Given the description of an element on the screen output the (x, y) to click on. 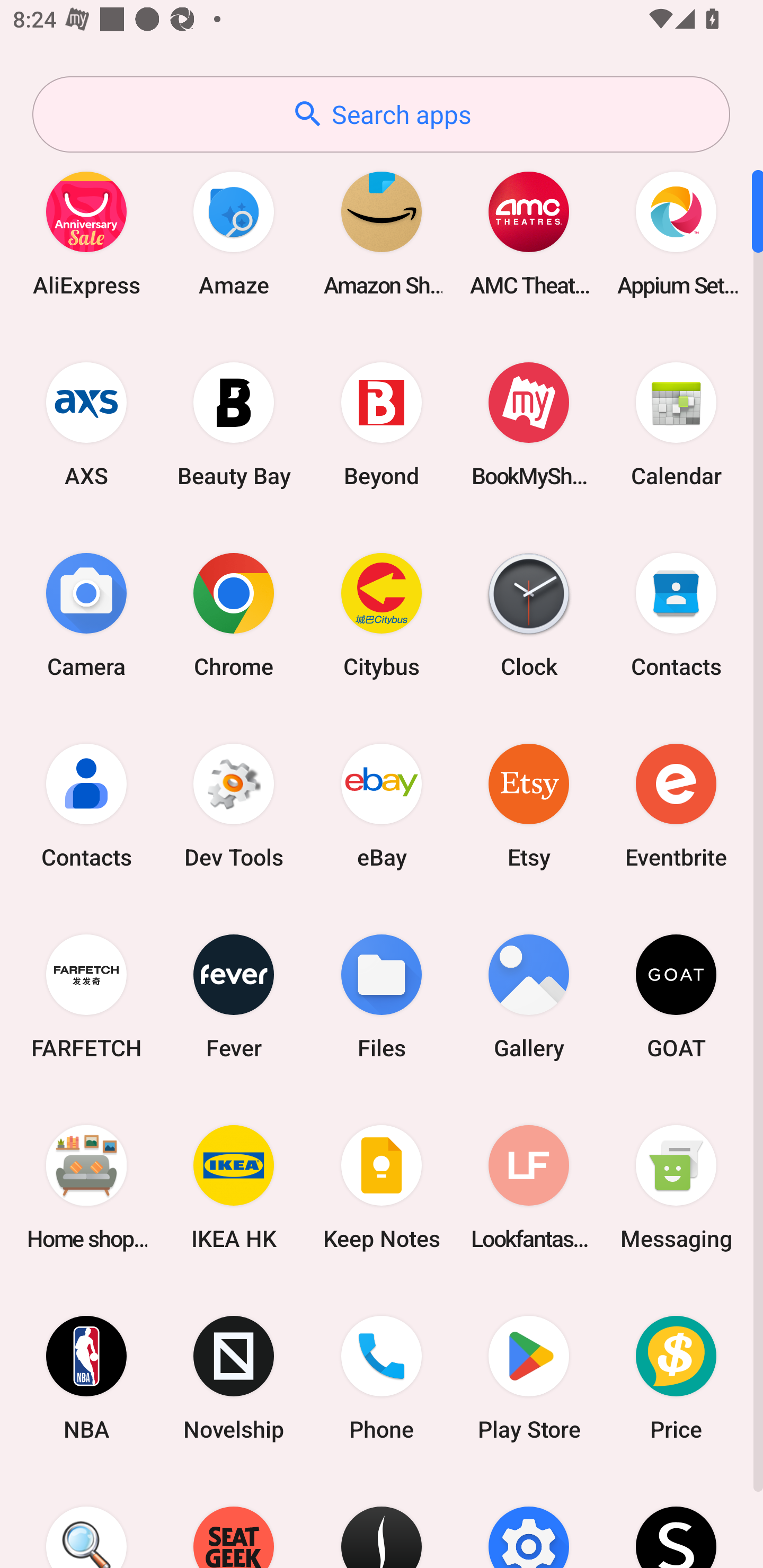
  Search apps (381, 114)
AliExpress (86, 233)
Amaze (233, 233)
Amazon Shopping (381, 233)
AMC Theatres (528, 233)
Appium Settings (676, 233)
AXS (86, 424)
Beauty Bay (233, 424)
Beyond (381, 424)
BookMyShow (528, 424)
Calendar (676, 424)
Camera (86, 614)
Chrome (233, 614)
Citybus (381, 614)
Clock (528, 614)
Contacts (676, 614)
Contacts (86, 805)
Dev Tools (233, 805)
eBay (381, 805)
Etsy (528, 805)
Eventbrite (676, 805)
FARFETCH (86, 996)
Fever (233, 996)
Files (381, 996)
Gallery (528, 996)
GOAT (676, 996)
Home shopping (86, 1186)
IKEA HK (233, 1186)
Keep Notes (381, 1186)
Lookfantastic (528, 1186)
Messaging (676, 1186)
NBA (86, 1377)
Novelship (233, 1377)
Phone (381, 1377)
Play Store (528, 1377)
Price (676, 1377)
